Given the description of an element on the screen output the (x, y) to click on. 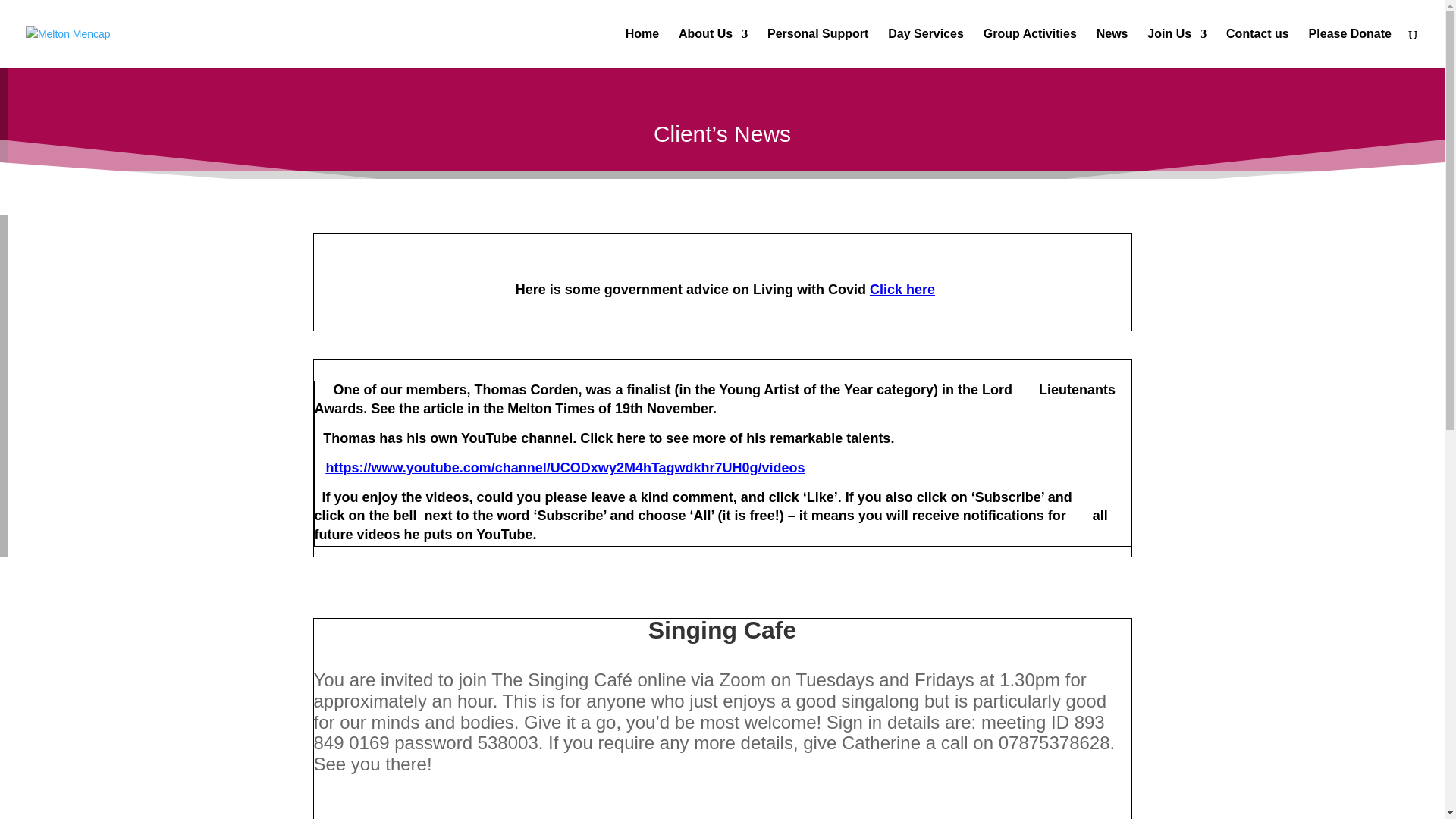
Contact us (1256, 47)
Join Us (1177, 47)
About Us (713, 47)
Day Services (925, 47)
Personal Support (817, 47)
 Click here (900, 289)
Please Donate (1349, 47)
Group Activities (1030, 47)
